Given the description of an element on the screen output the (x, y) to click on. 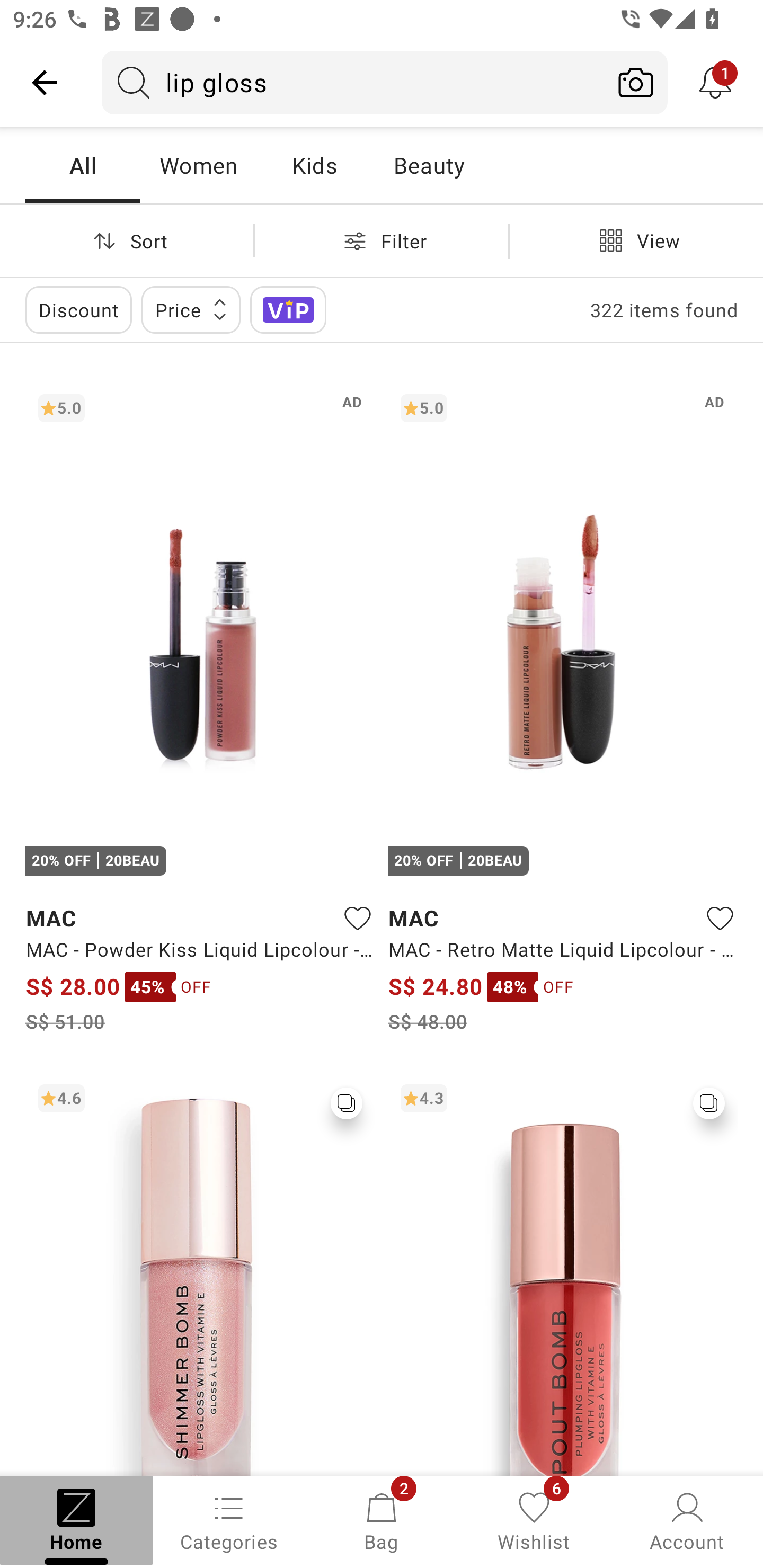
Navigate up (44, 82)
lip gloss (352, 82)
Women (198, 165)
Kids (314, 165)
Beauty (428, 165)
Sort (126, 240)
Filter (381, 240)
View (636, 240)
Discount (78, 309)
Price (190, 309)
4.6 (200, 1272)
4.3 (562, 1272)
Categories (228, 1519)
Bag, 2 new notifications Bag (381, 1519)
Wishlist, 6 new notifications Wishlist (533, 1519)
Account (686, 1519)
